Given the description of an element on the screen output the (x, y) to click on. 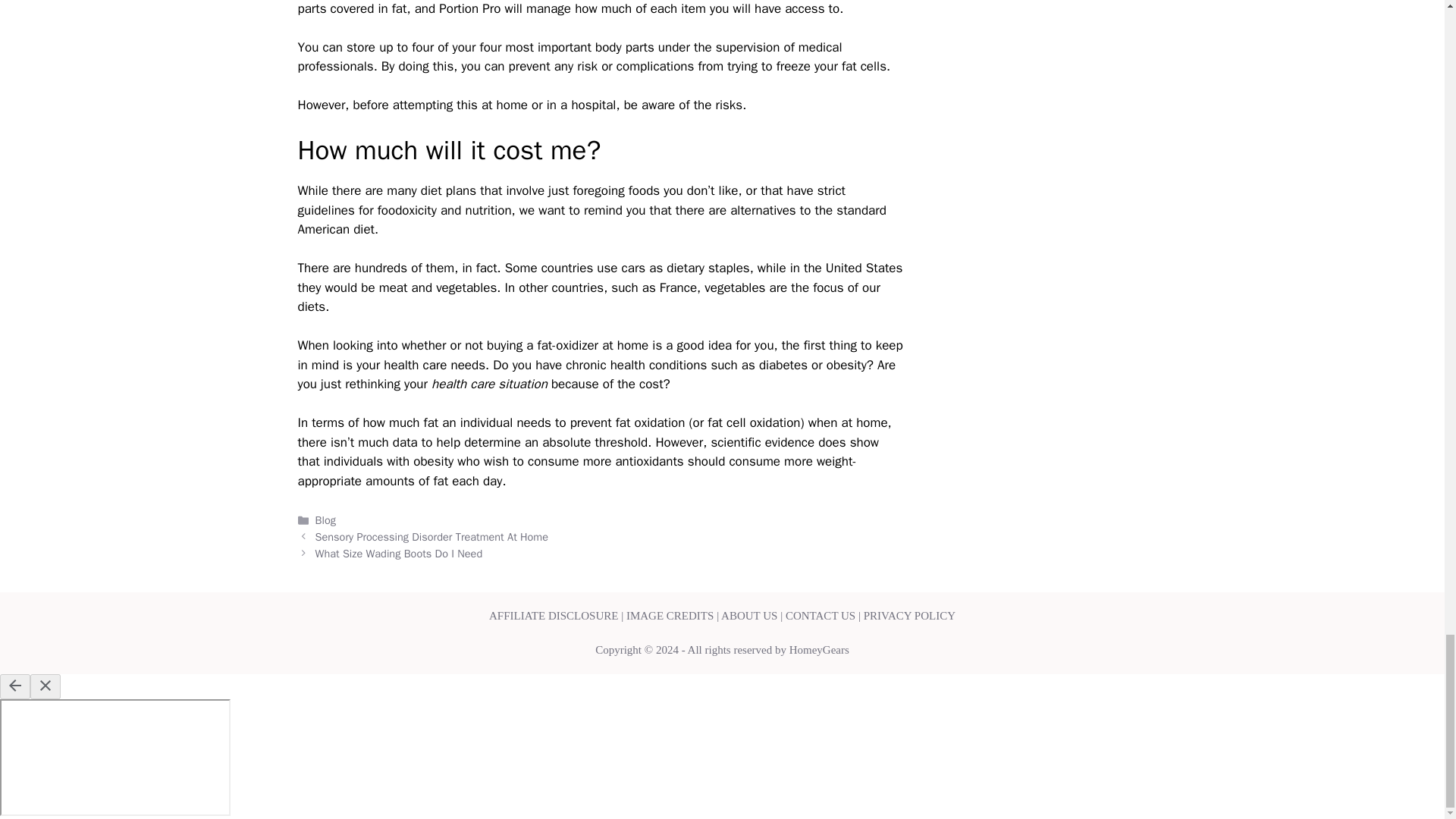
Sensory Processing Disorder Treatment At Home (431, 536)
What Size Wading Boots Do I Need (399, 553)
Blog (325, 520)
